Given the description of an element on the screen output the (x, y) to click on. 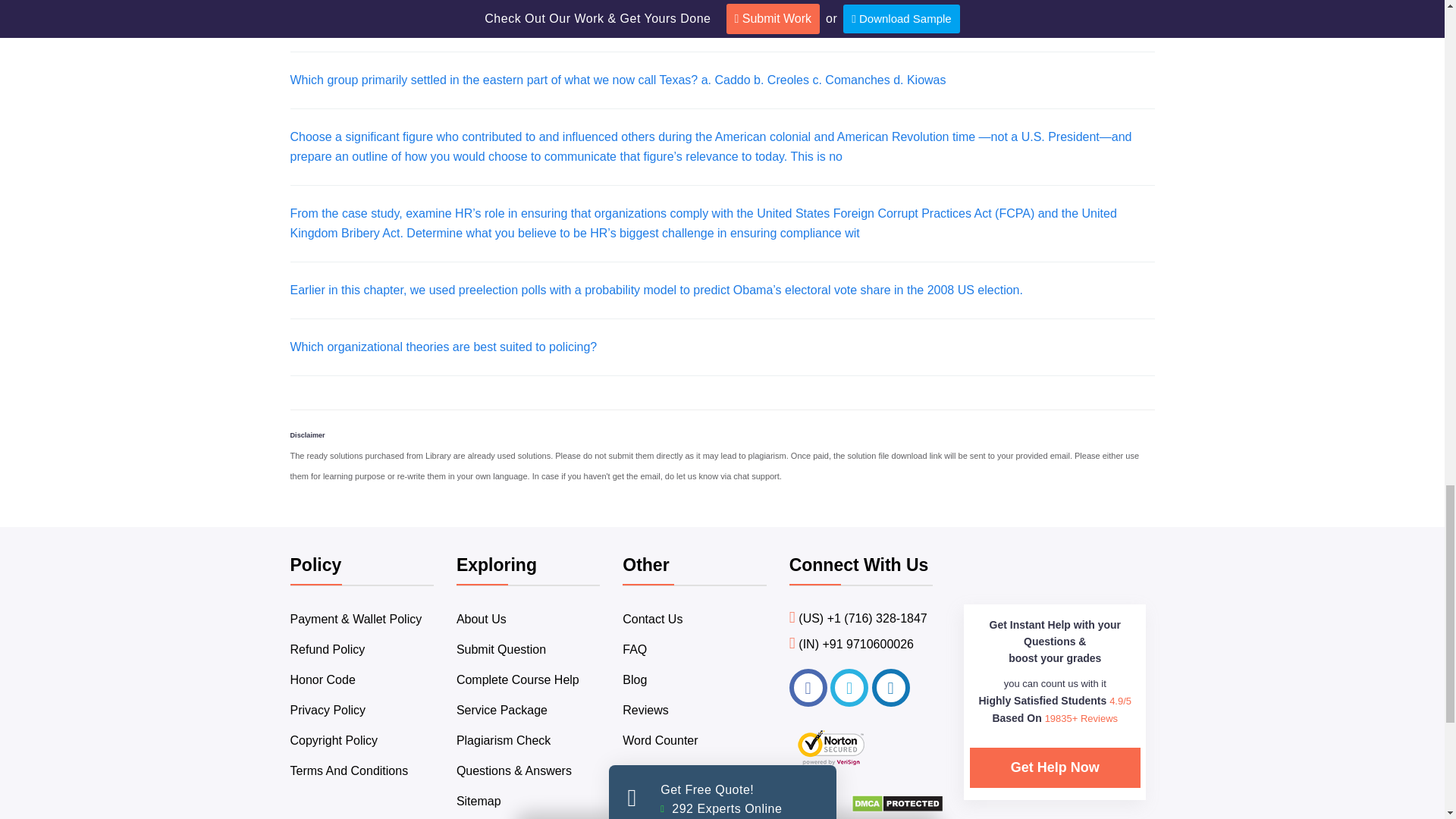
Refund Policy (327, 649)
Twitter (848, 687)
Which organizational theories are best suited to policing? (442, 346)
Linked In (891, 687)
Facebook (808, 687)
CallTutors DMCA.com Protection Status (897, 808)
Honor Code (322, 679)
